Given the description of an element on the screen output the (x, y) to click on. 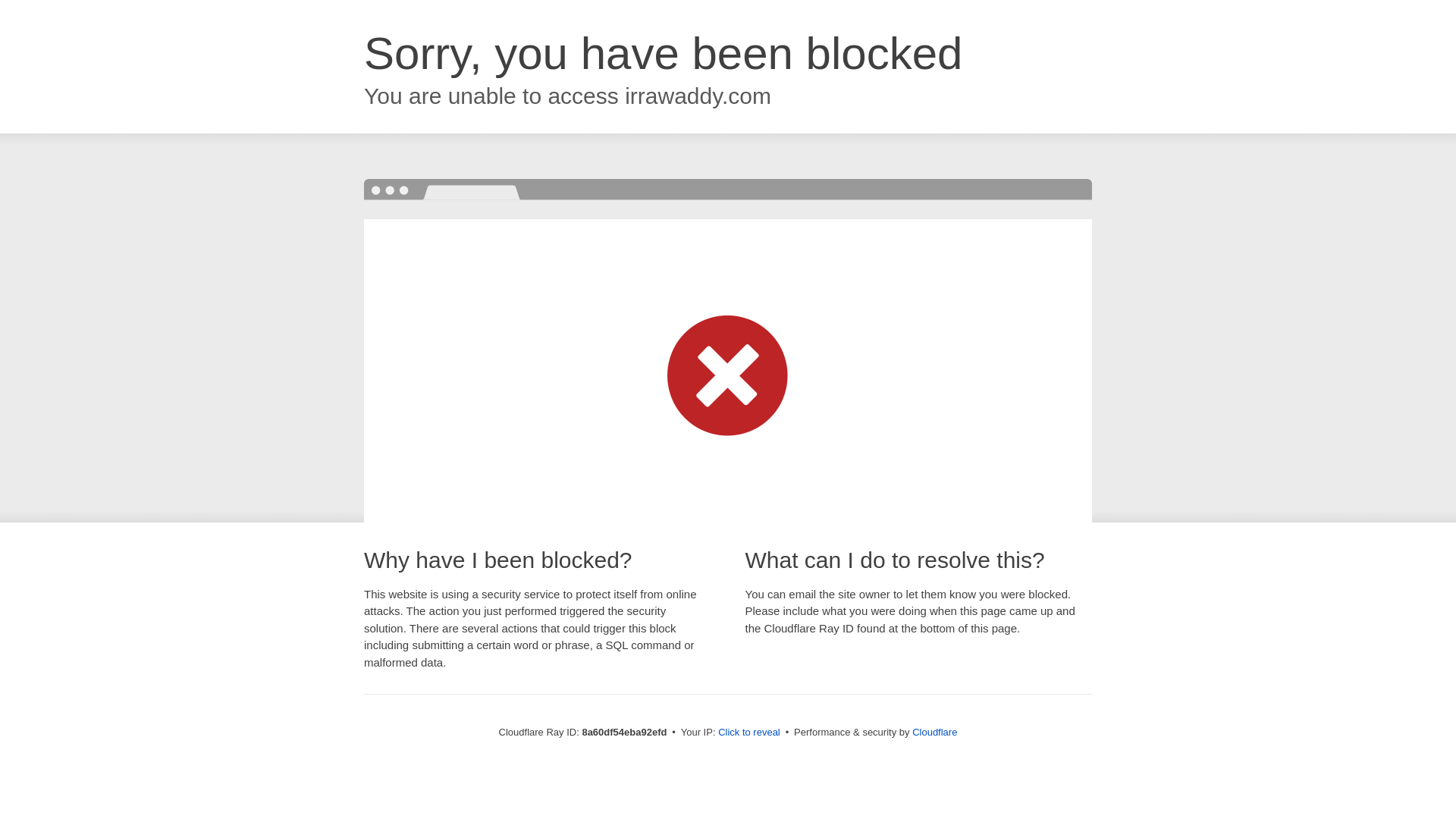
Click to reveal (748, 732)
Cloudflare (934, 731)
